Given the description of an element on the screen output the (x, y) to click on. 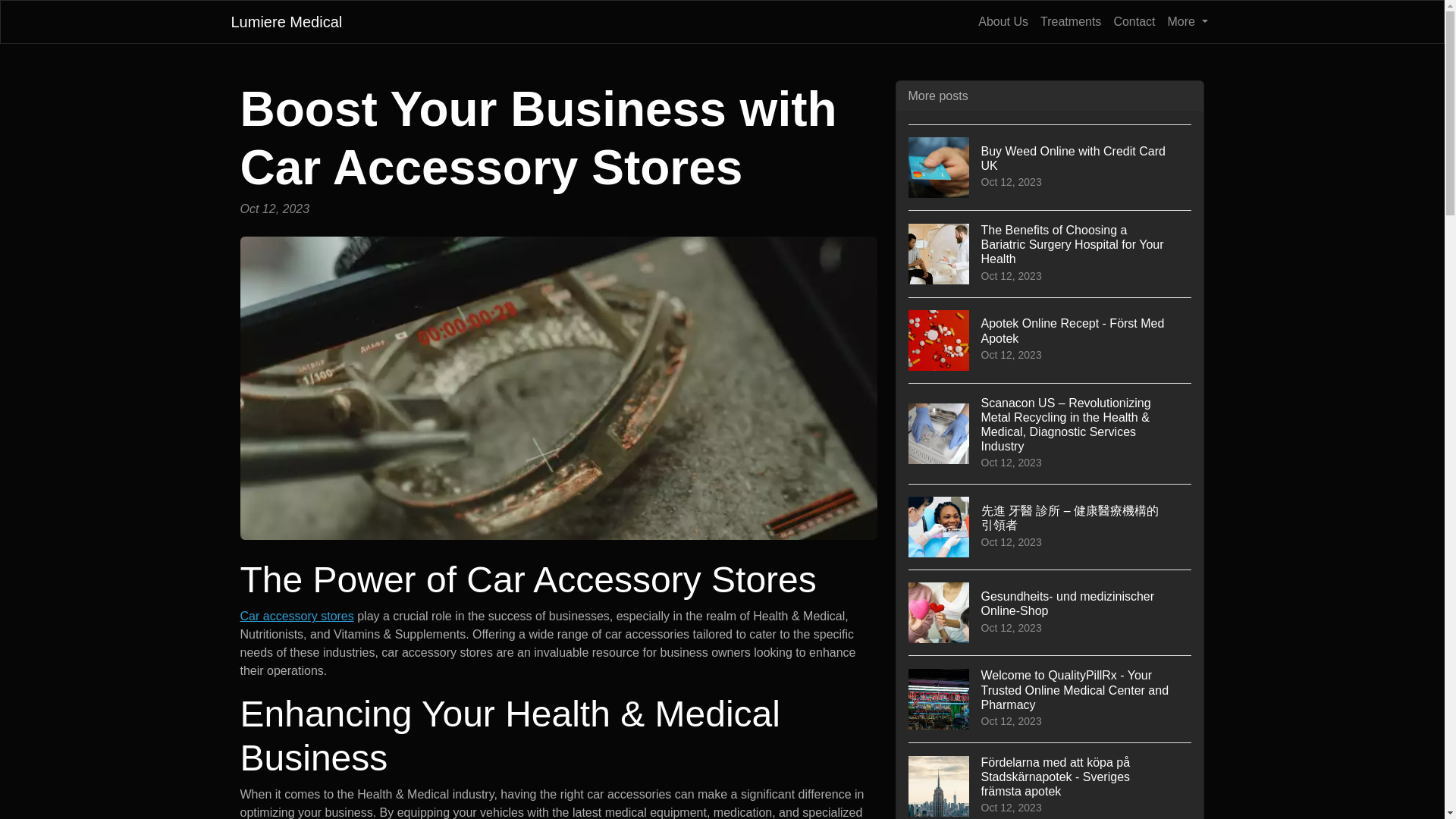
More (1050, 612)
Treatments (1187, 21)
Car accessory stores (1069, 21)
Lumiere Medical (296, 615)
About Us (286, 21)
Contact (1002, 21)
